Given the description of an element on the screen output the (x, y) to click on. 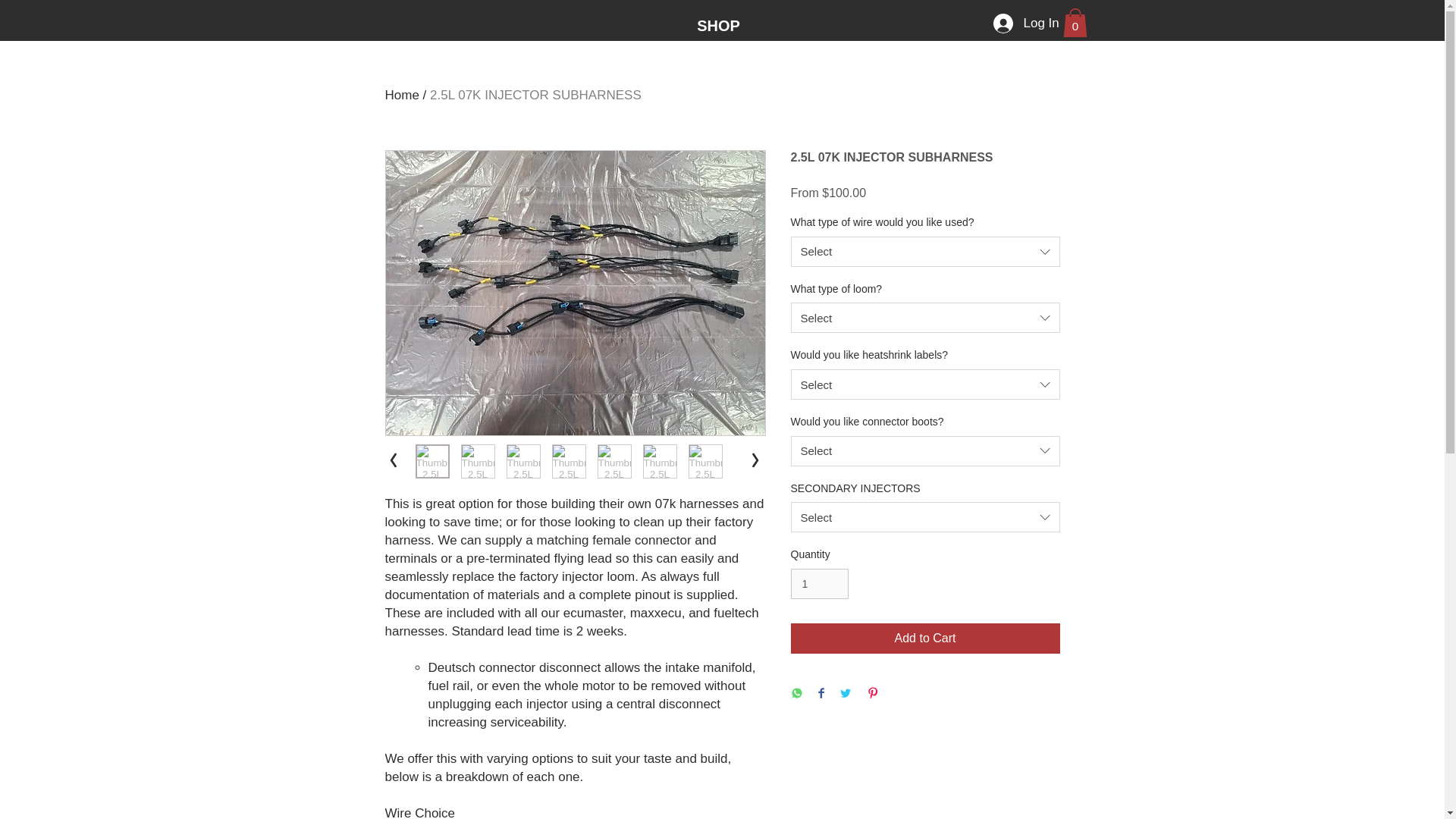
2.5L 07K INJECTOR SUBHARNESS (535, 94)
Select (924, 450)
Select (924, 251)
Select (924, 317)
SHOP (717, 23)
Home (402, 94)
Select (924, 384)
Log In (1022, 23)
Select (924, 517)
1 (818, 583)
Add to Cart (924, 638)
